Given the description of an element on the screen output the (x, y) to click on. 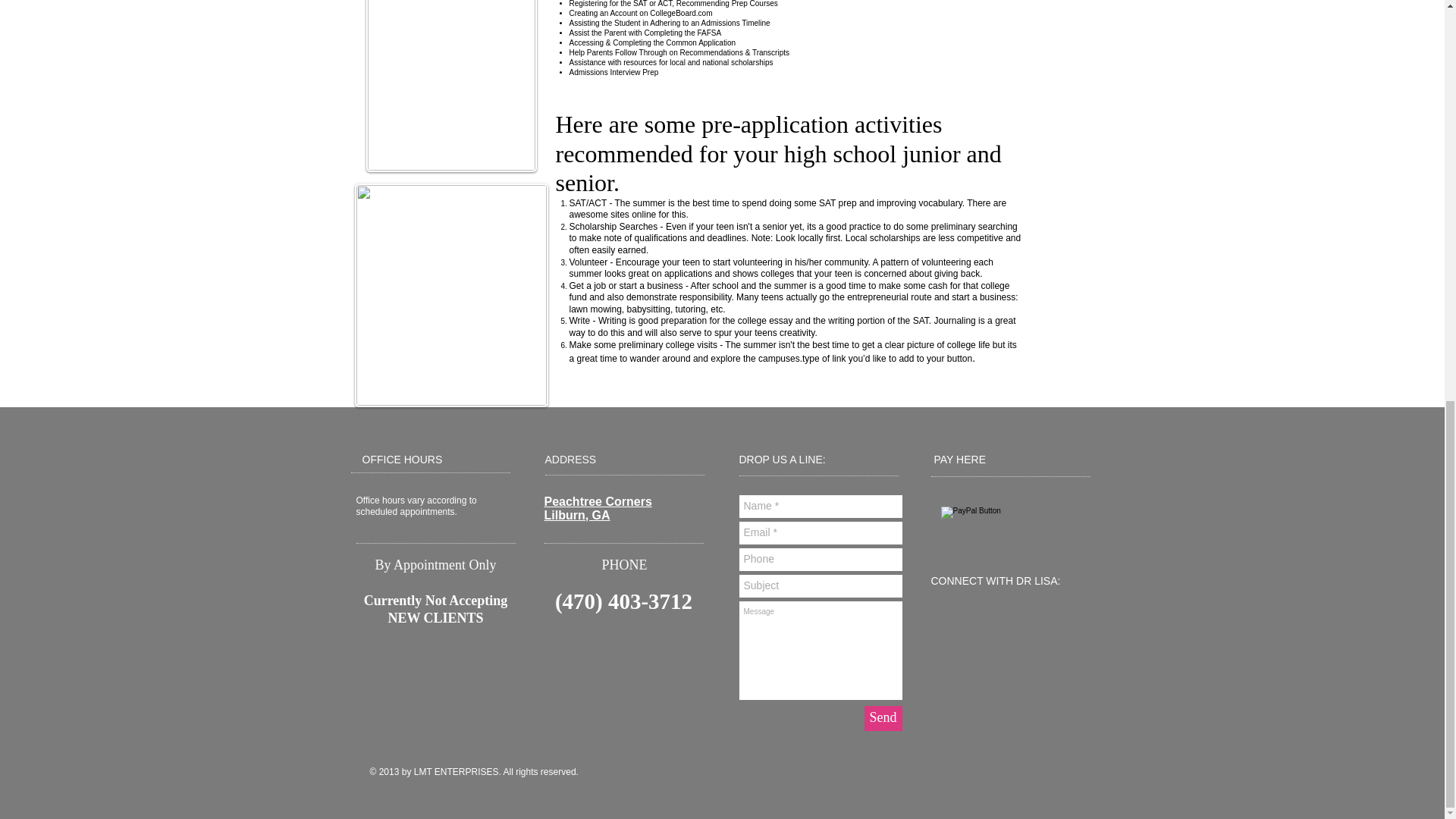
Send (883, 718)
